Given the description of an element on the screen output the (x, y) to click on. 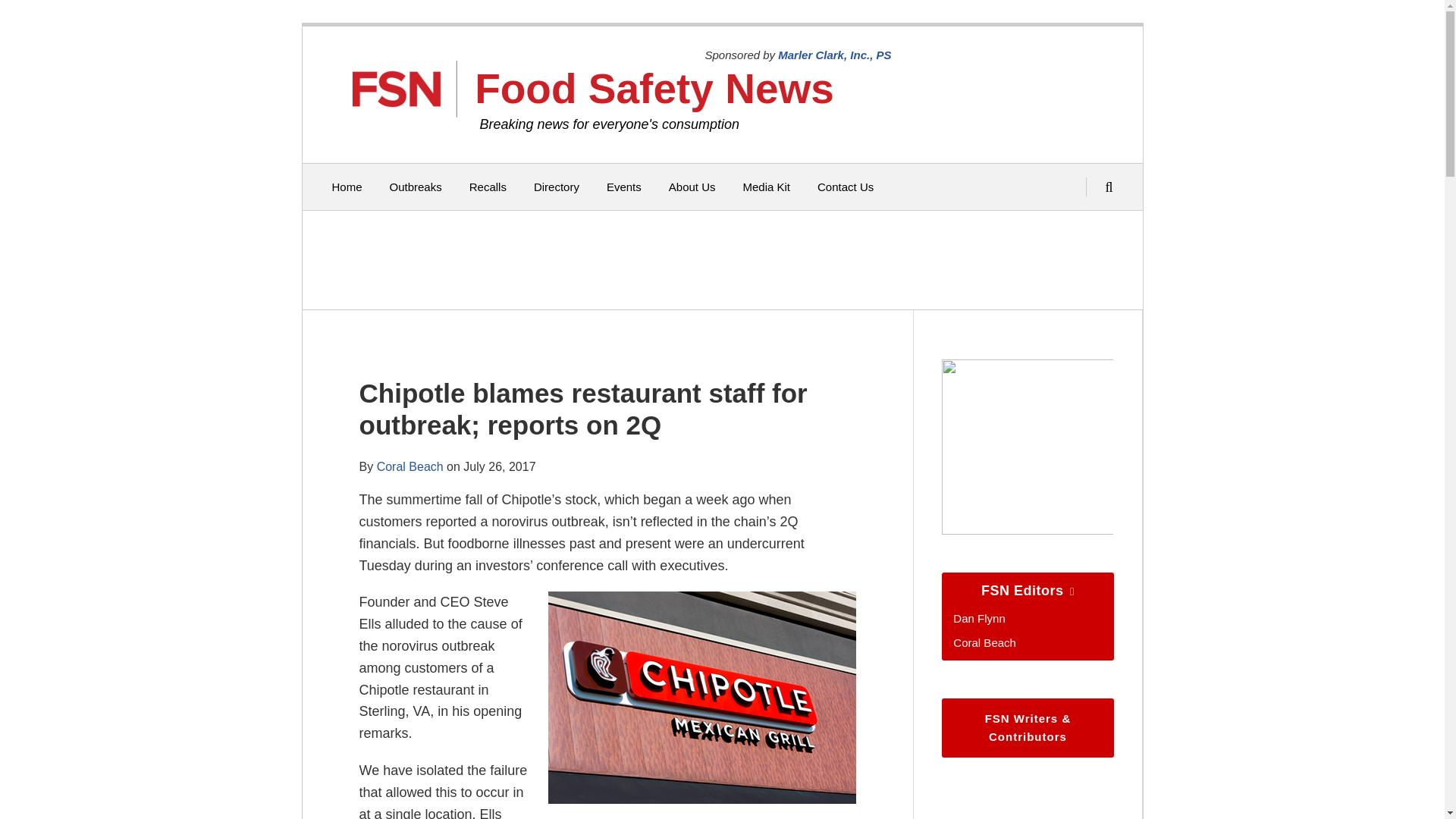
Coral Beach (410, 466)
Marler Clark, Inc., PS (834, 54)
About Us (692, 187)
Media Kit (766, 187)
Events (624, 187)
Food Safety News (654, 88)
Coral Beach (984, 642)
Directory (556, 187)
Dan Flynn (978, 617)
Outbreaks (416, 187)
